Given the description of an element on the screen output the (x, y) to click on. 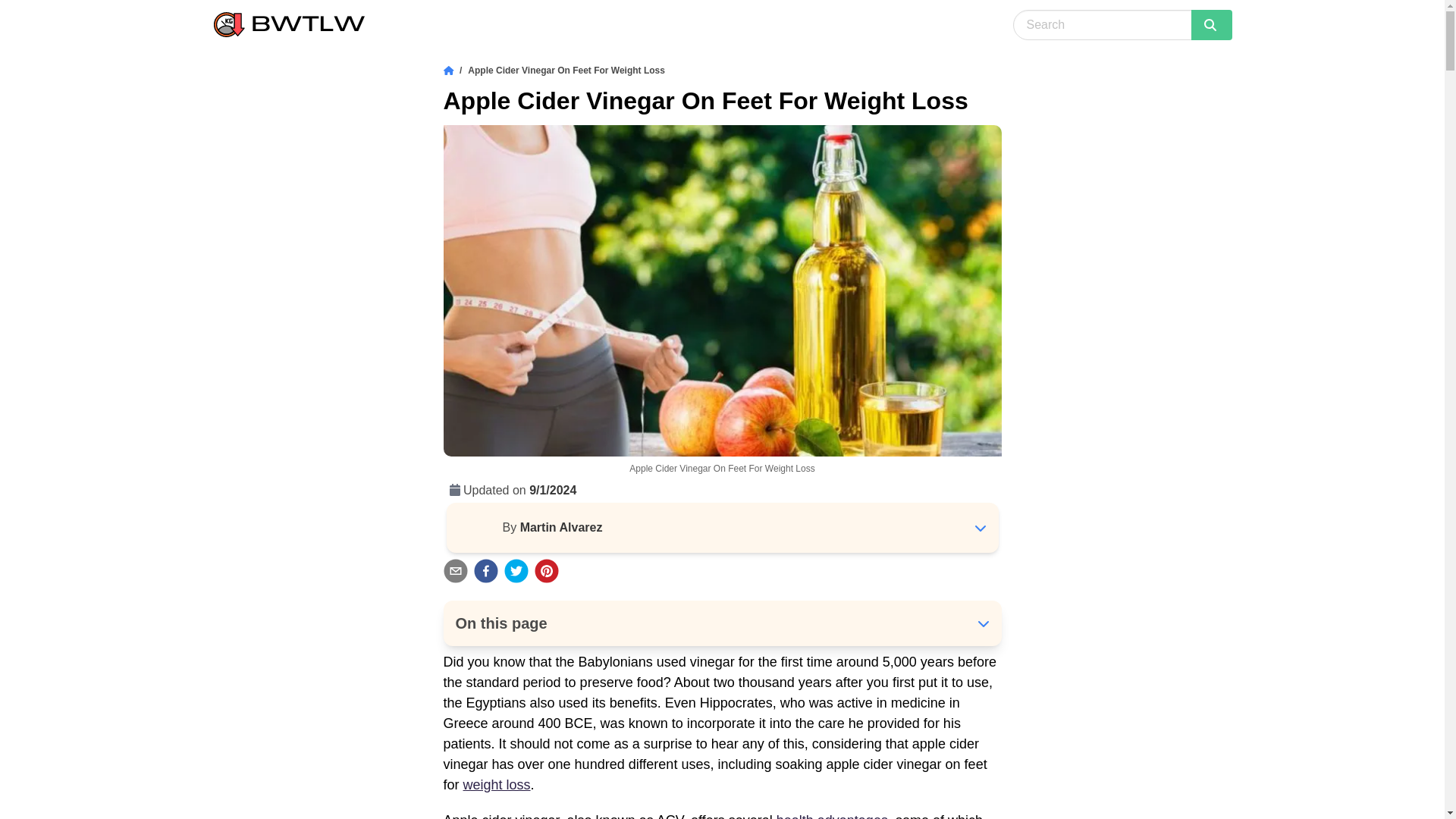
weight loss (497, 784)
health advantages (832, 816)
BWTLW Best Way To Lose Weight (289, 24)
